Given the description of an element on the screen output the (x, y) to click on. 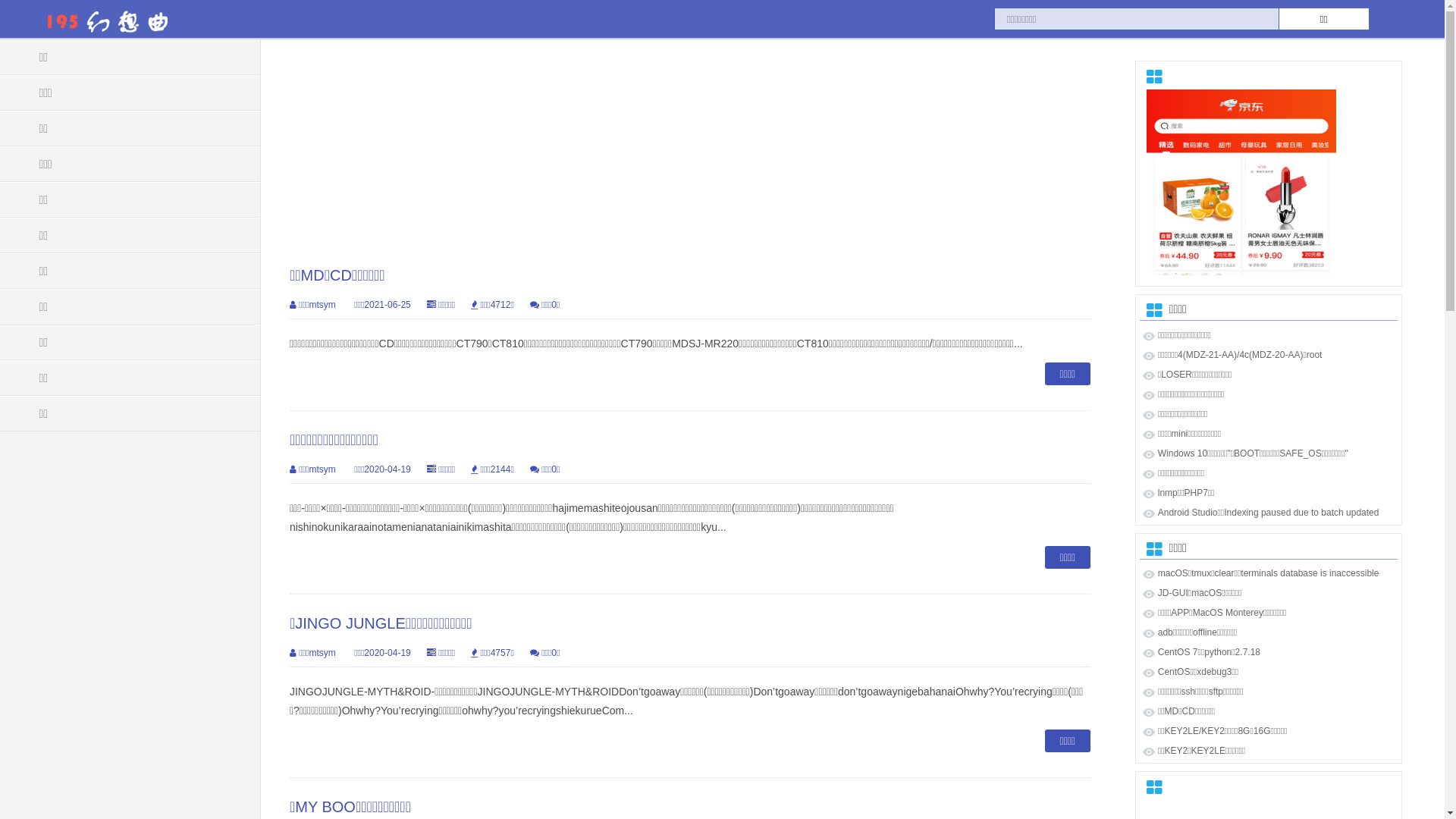
Advertisement Element type: hover (689, 143)
